Given the description of an element on the screen output the (x, y) to click on. 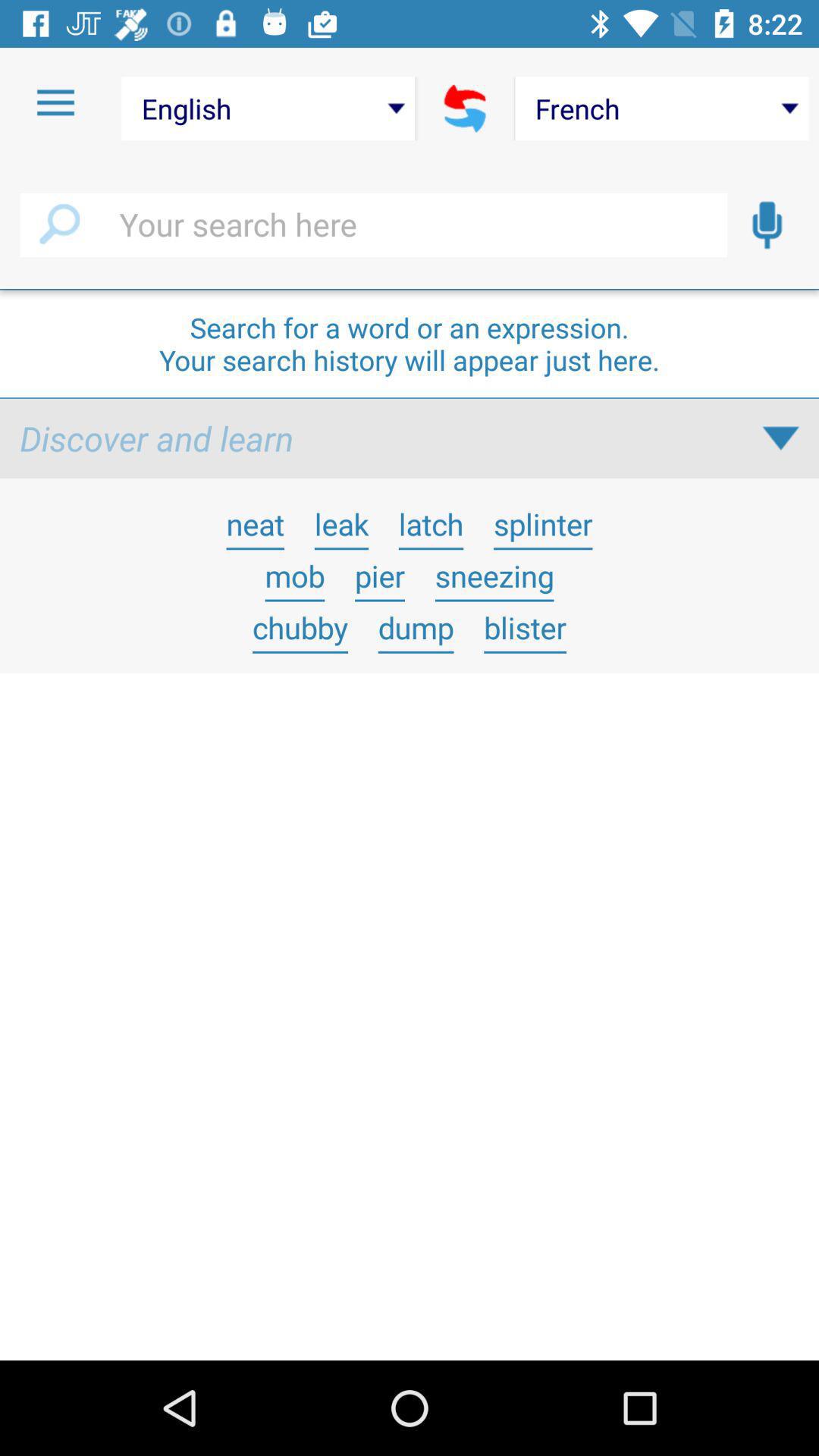
choose icon next to the english icon (465, 108)
